Given the description of an element on the screen output the (x, y) to click on. 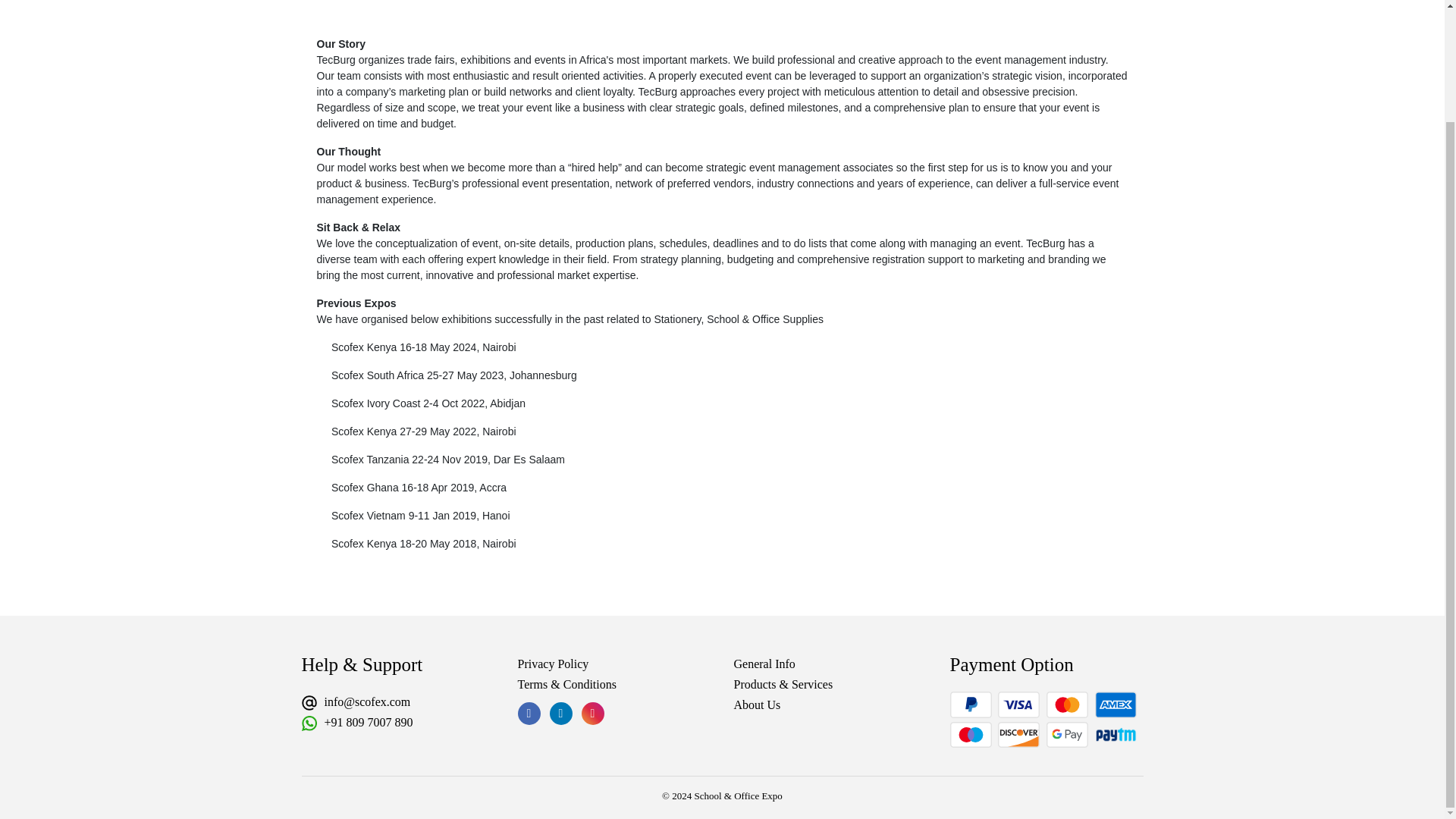
Privacy Policy (552, 663)
About Us (756, 704)
General Info (763, 663)
